Given the description of an element on the screen output the (x, y) to click on. 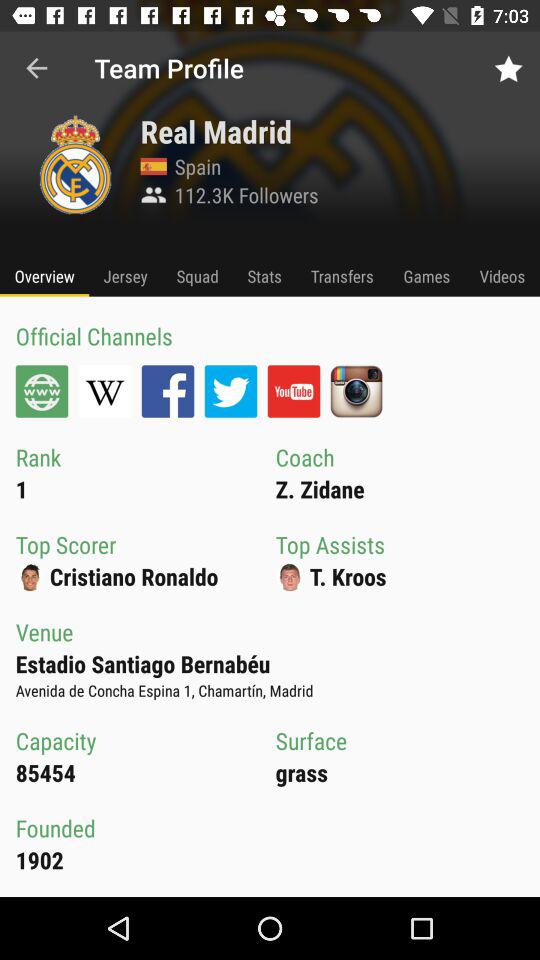
social media accounts (104, 391)
